Given the description of an element on the screen output the (x, y) to click on. 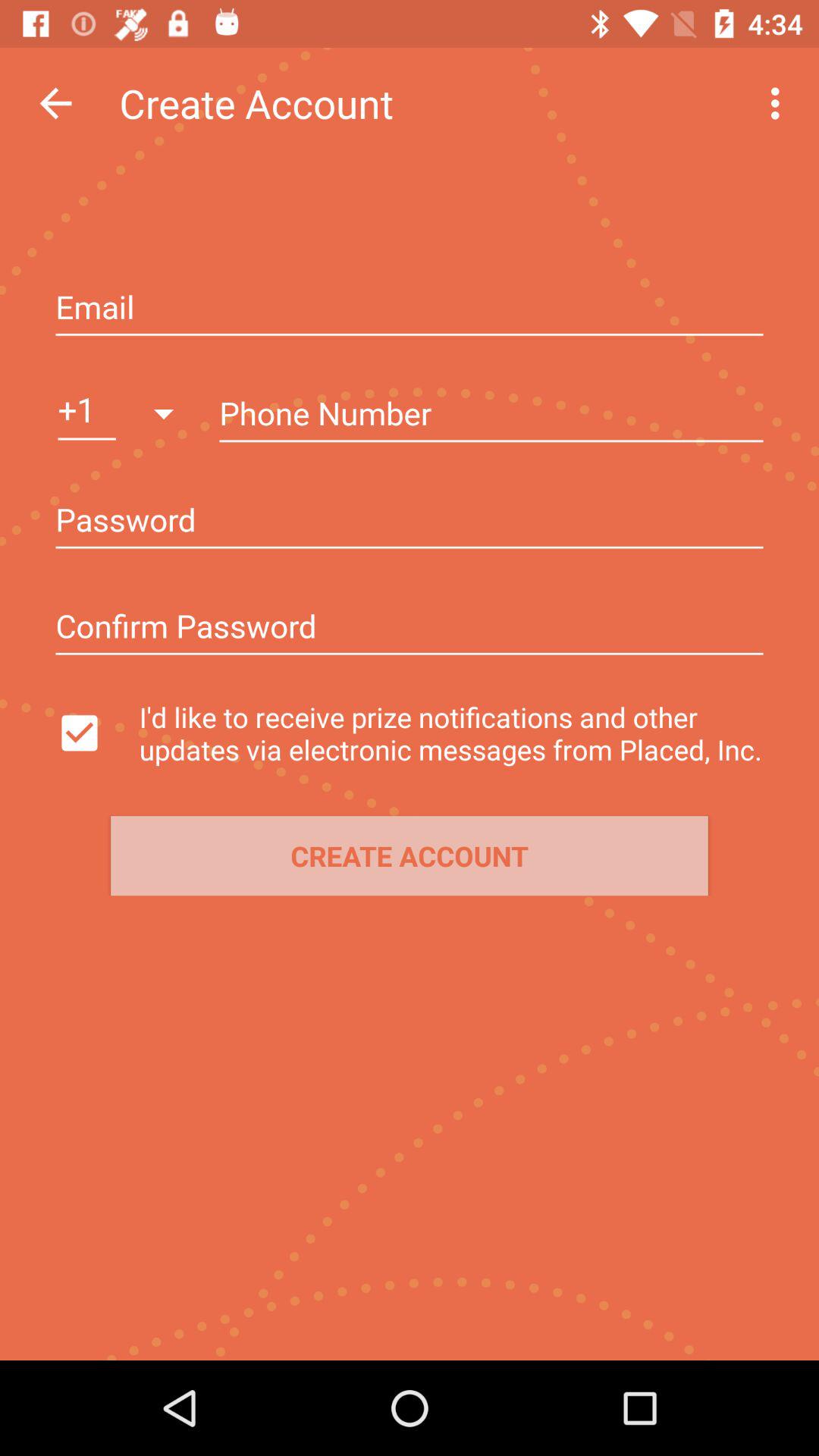
insert email (409, 308)
